Given the description of an element on the screen output the (x, y) to click on. 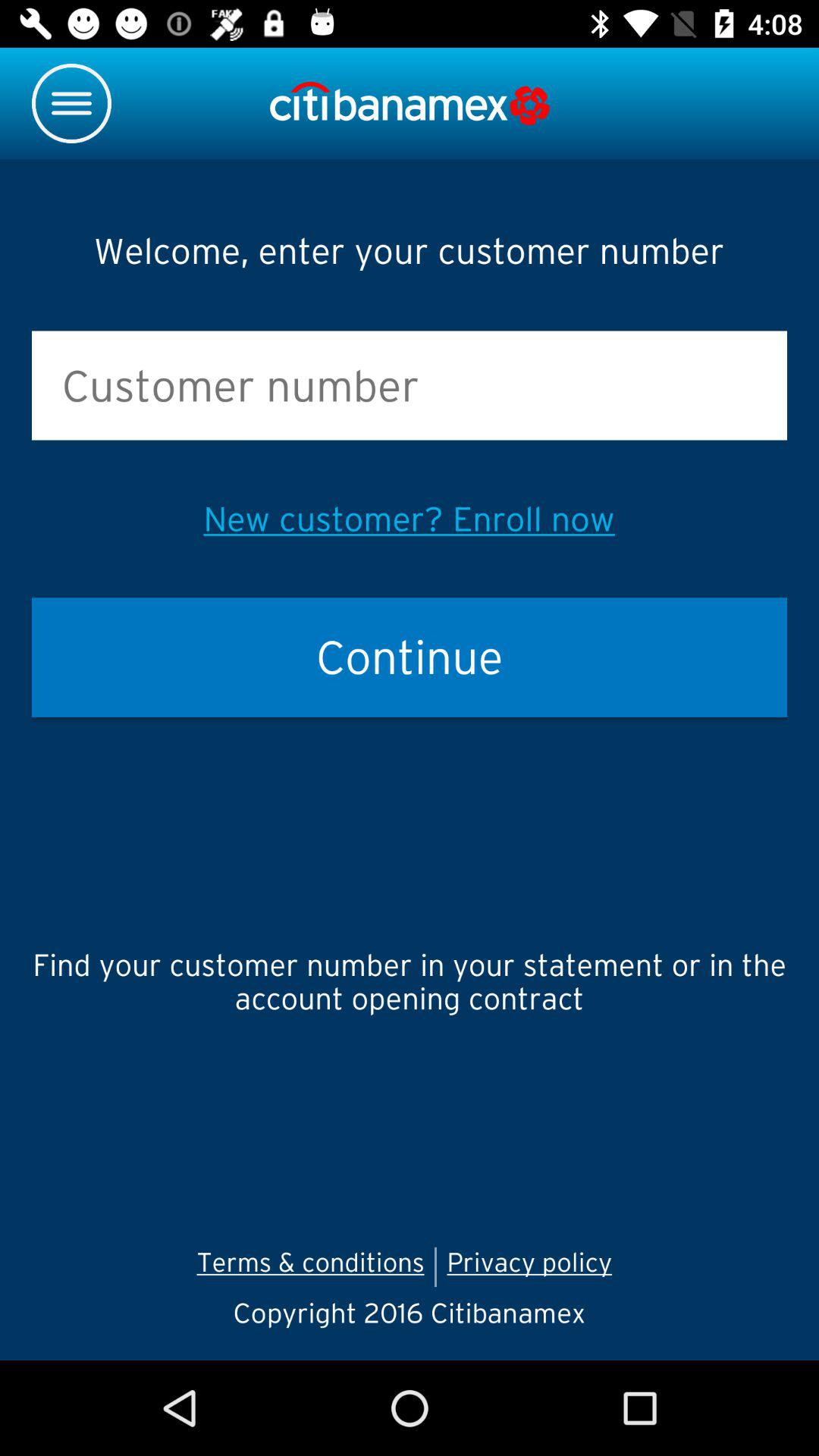
customer number box (409, 385)
